Given the description of an element on the screen output the (x, y) to click on. 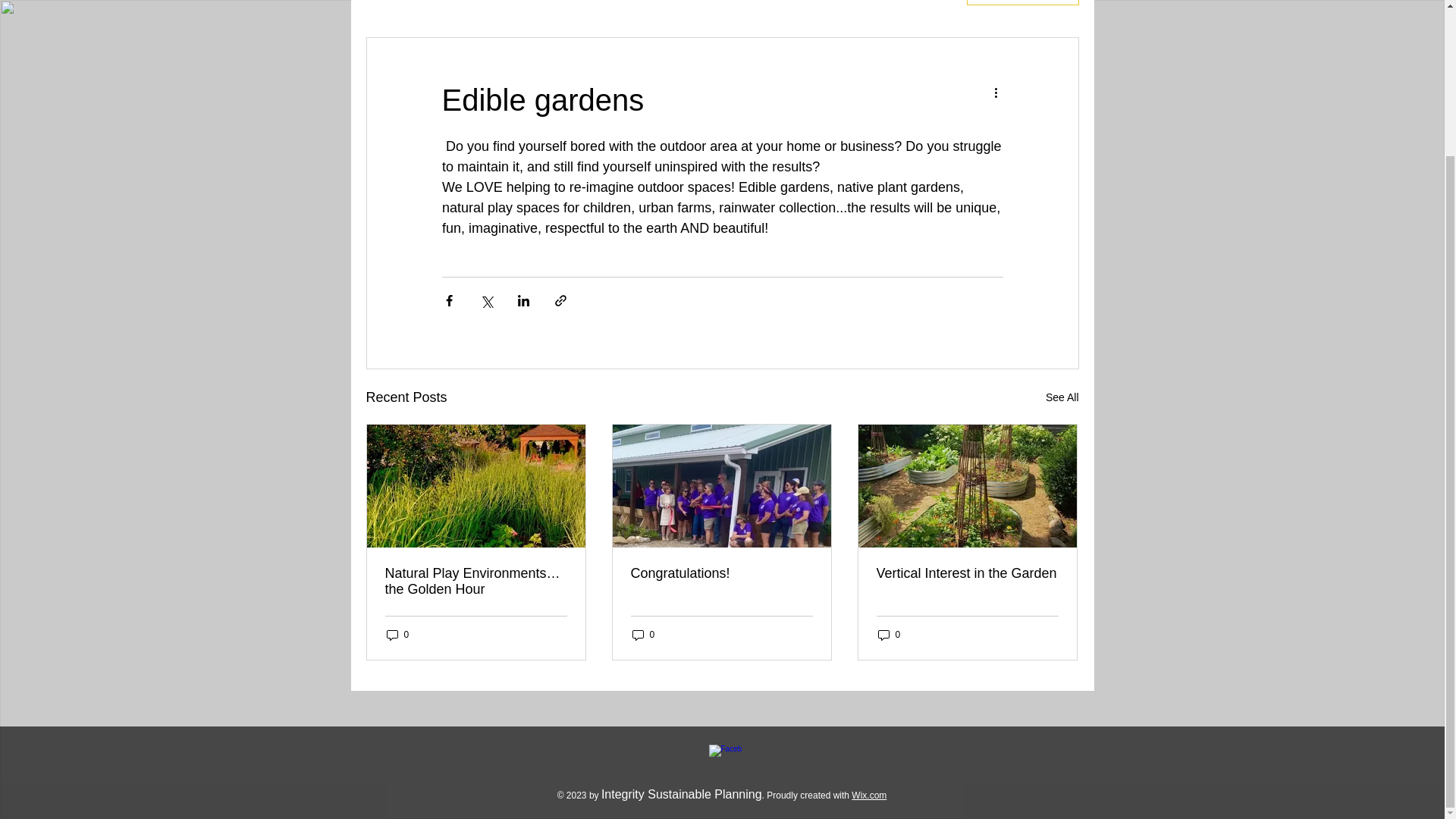
Wix.com (868, 795)
See All (1061, 397)
0 (889, 635)
0 (643, 635)
Vertical Interest in the Garden (967, 573)
0 (397, 635)
Congratulations! (721, 573)
